Given the description of an element on the screen output the (x, y) to click on. 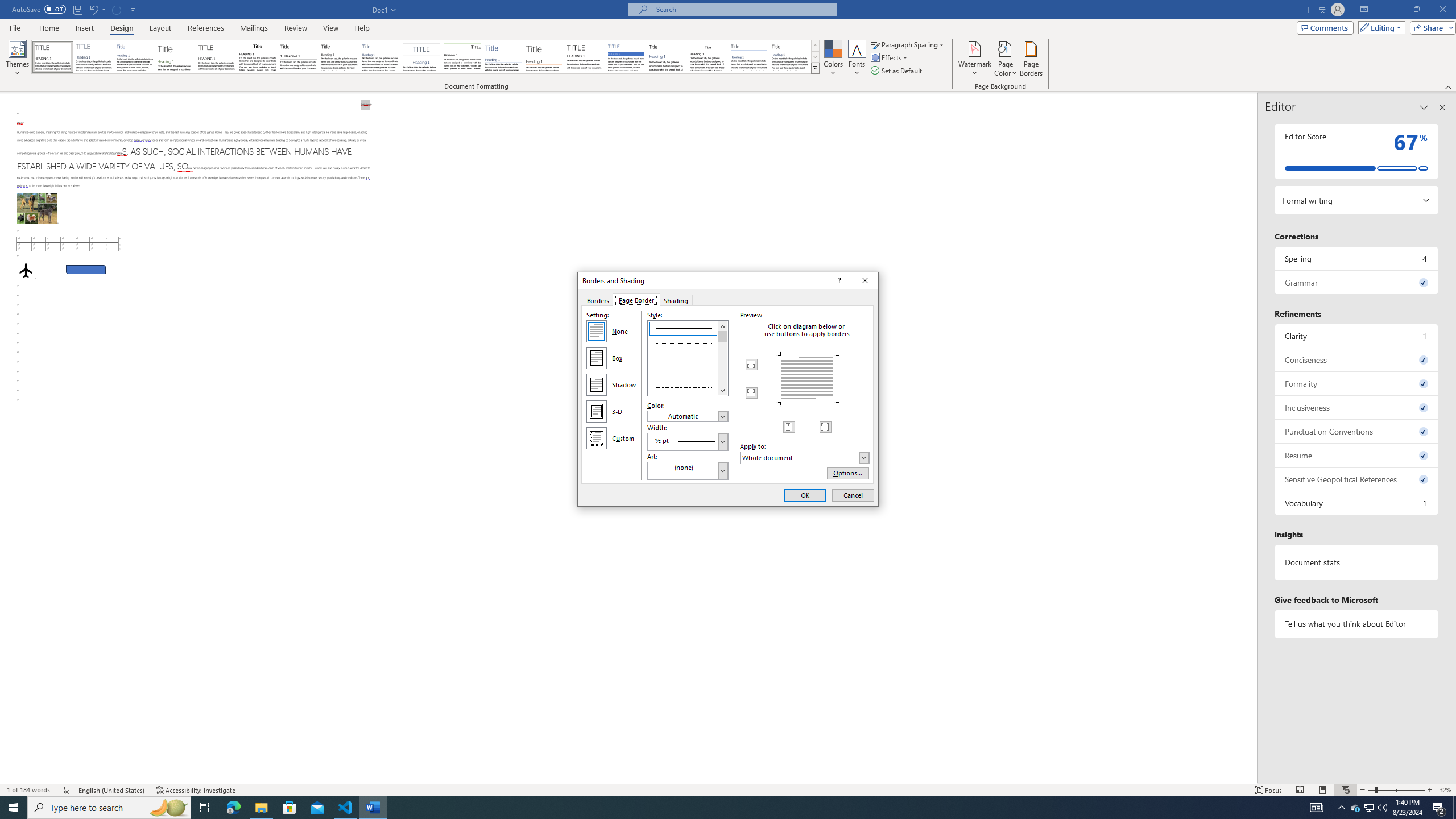
Morphological variation in six dogs (36, 208)
Options... (848, 472)
Spelling and Grammar Check Errors (65, 790)
Preview (806, 379)
Airplane with solid fill (25, 270)
Editing (1379, 27)
Centered (421, 56)
Vocabulary, 1 issue. Press space or enter to review items. (1356, 502)
AutomationID: QuickStylesSets (425, 56)
Action Center, 2 new notifications (1439, 807)
